Given the description of an element on the screen output the (x, y) to click on. 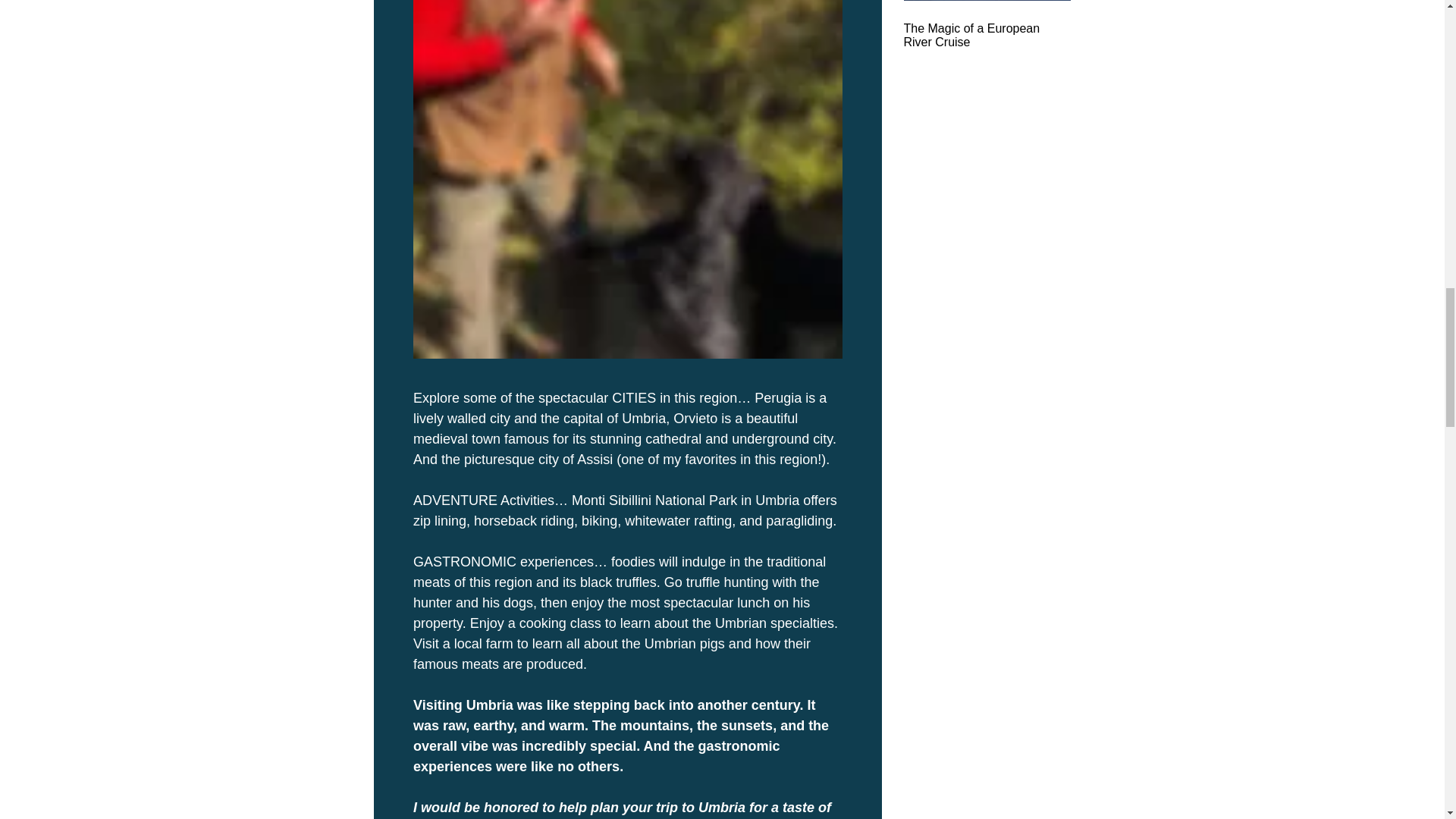
The Magic of a European River Cruise (987, 35)
